Given the description of an element on the screen output the (x, y) to click on. 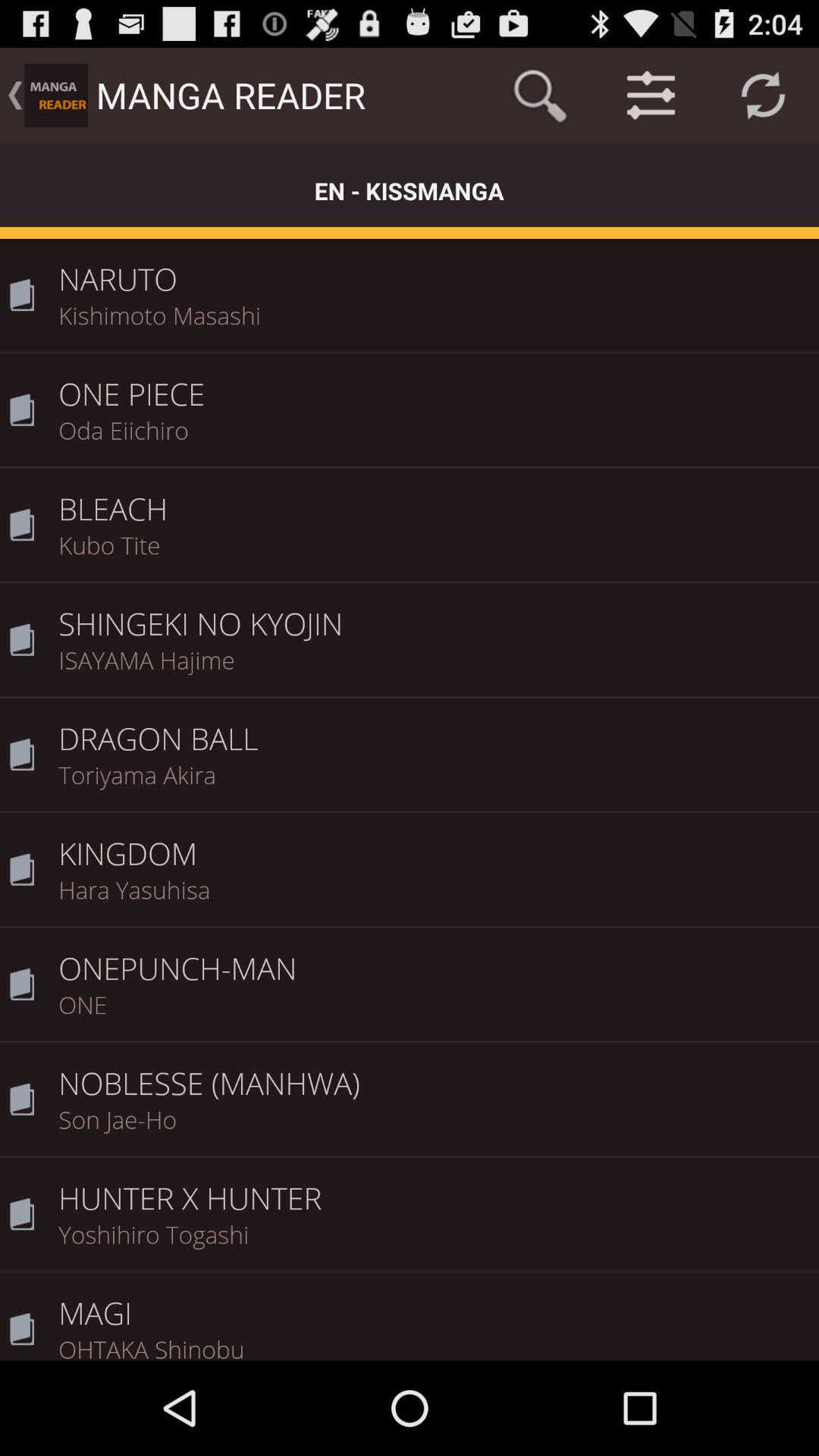
choose icon below the naruto icon (433, 325)
